Given the description of an element on the screen output the (x, y) to click on. 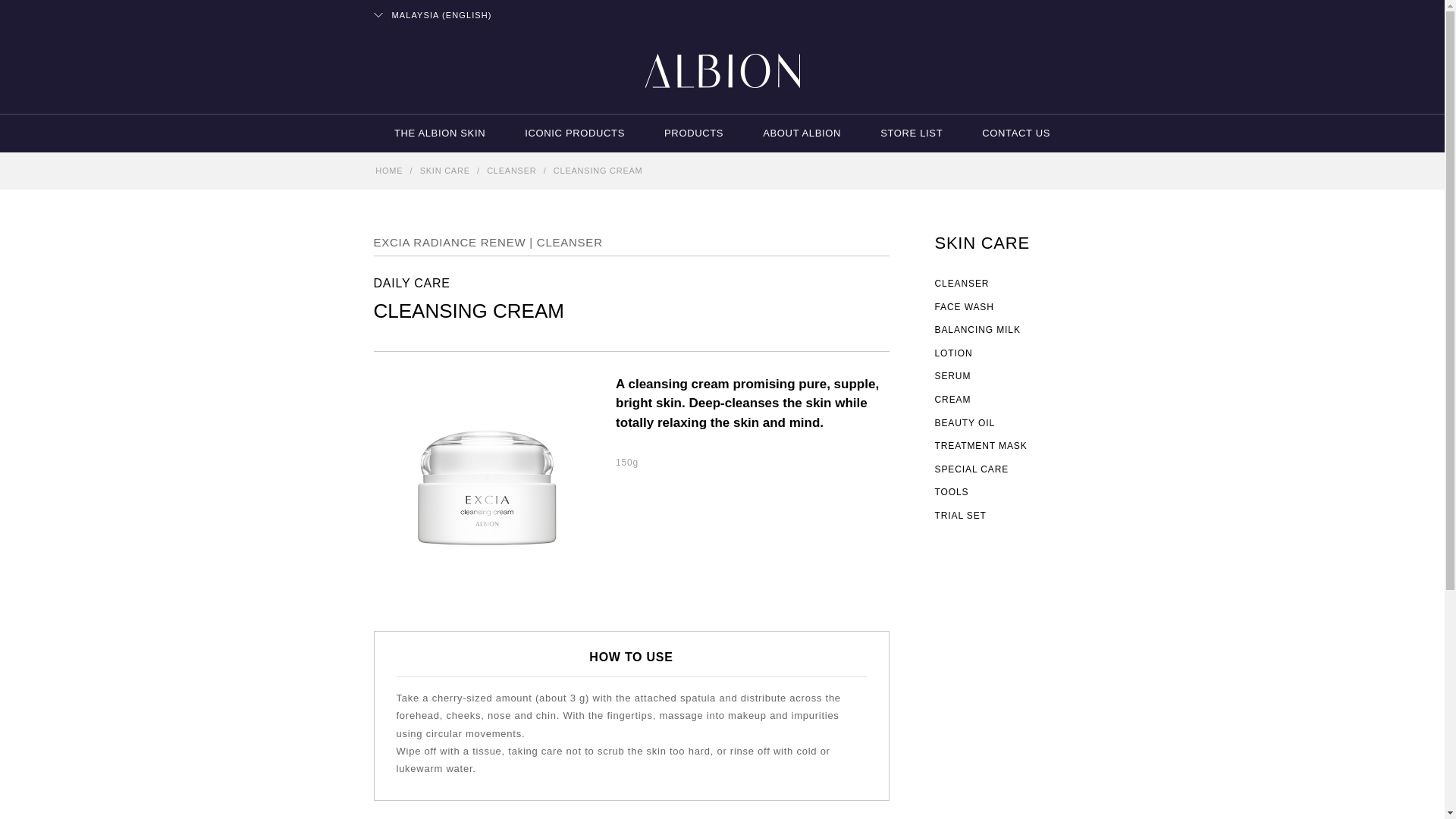
PRODUCTS (693, 133)
ICONIC PRODUCTS (575, 133)
THE ALBION SKIN (439, 133)
ALBION (722, 72)
